Given the description of an element on the screen output the (x, y) to click on. 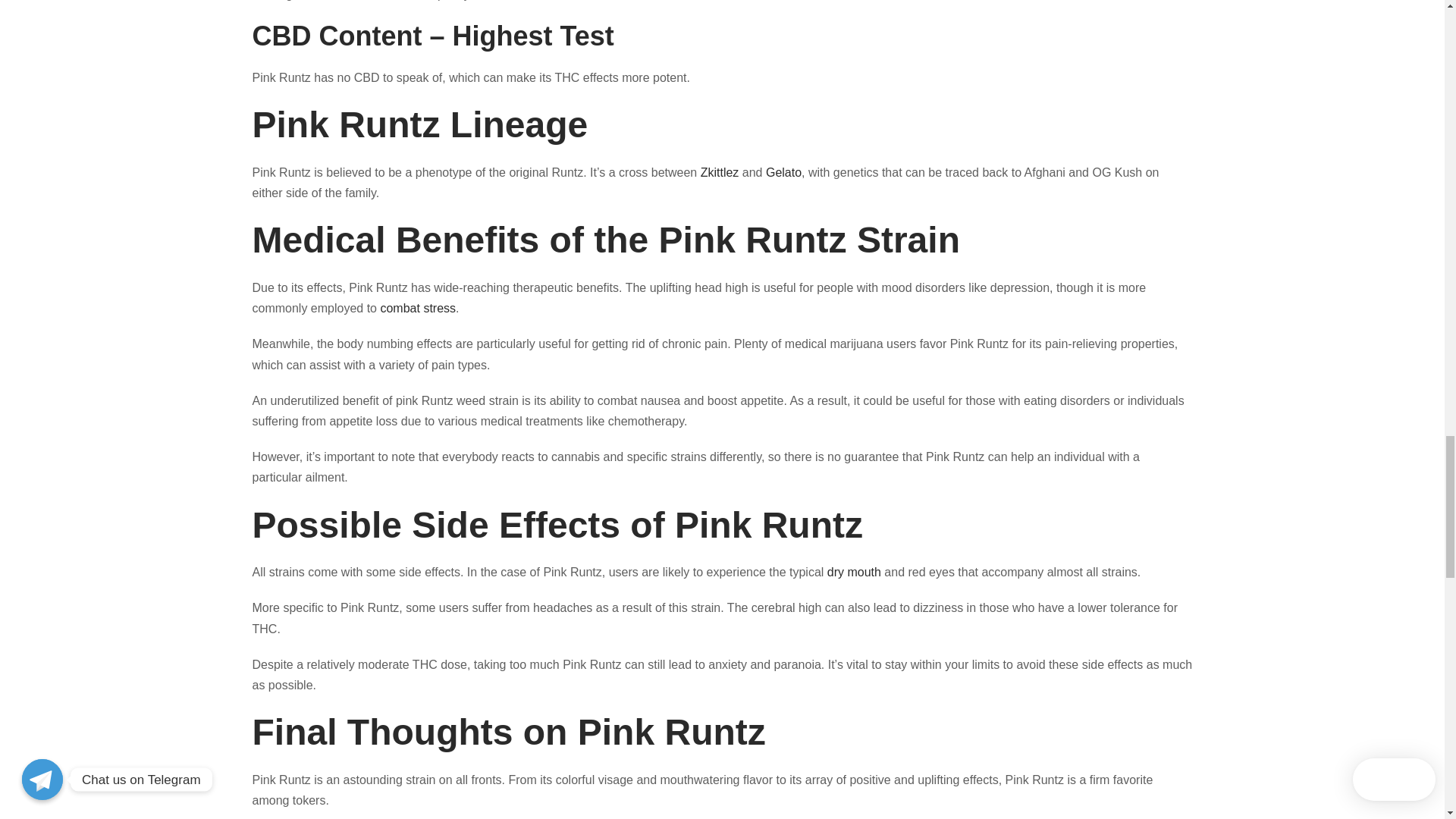
Gelato (783, 172)
combat stress (417, 308)
dry mouth (853, 571)
Zkittlez (719, 172)
